Given the description of an element on the screen output the (x, y) to click on. 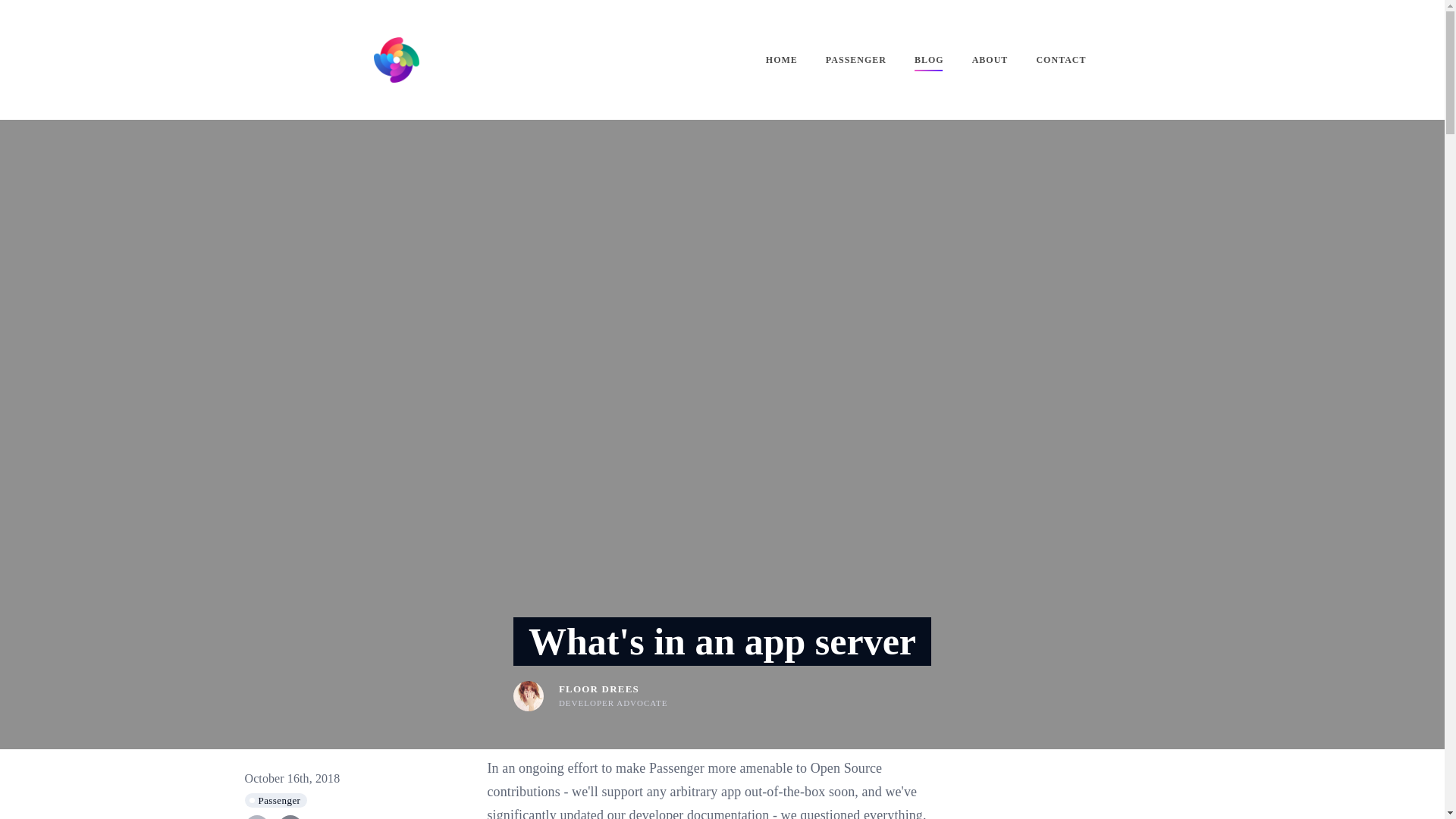
What's in an app server (721, 641)
PASSENGER (855, 59)
FLOOR DREES (599, 688)
ABOUT (990, 59)
Passenger (275, 800)
CONTACT (1060, 59)
